Given the description of an element on the screen output the (x, y) to click on. 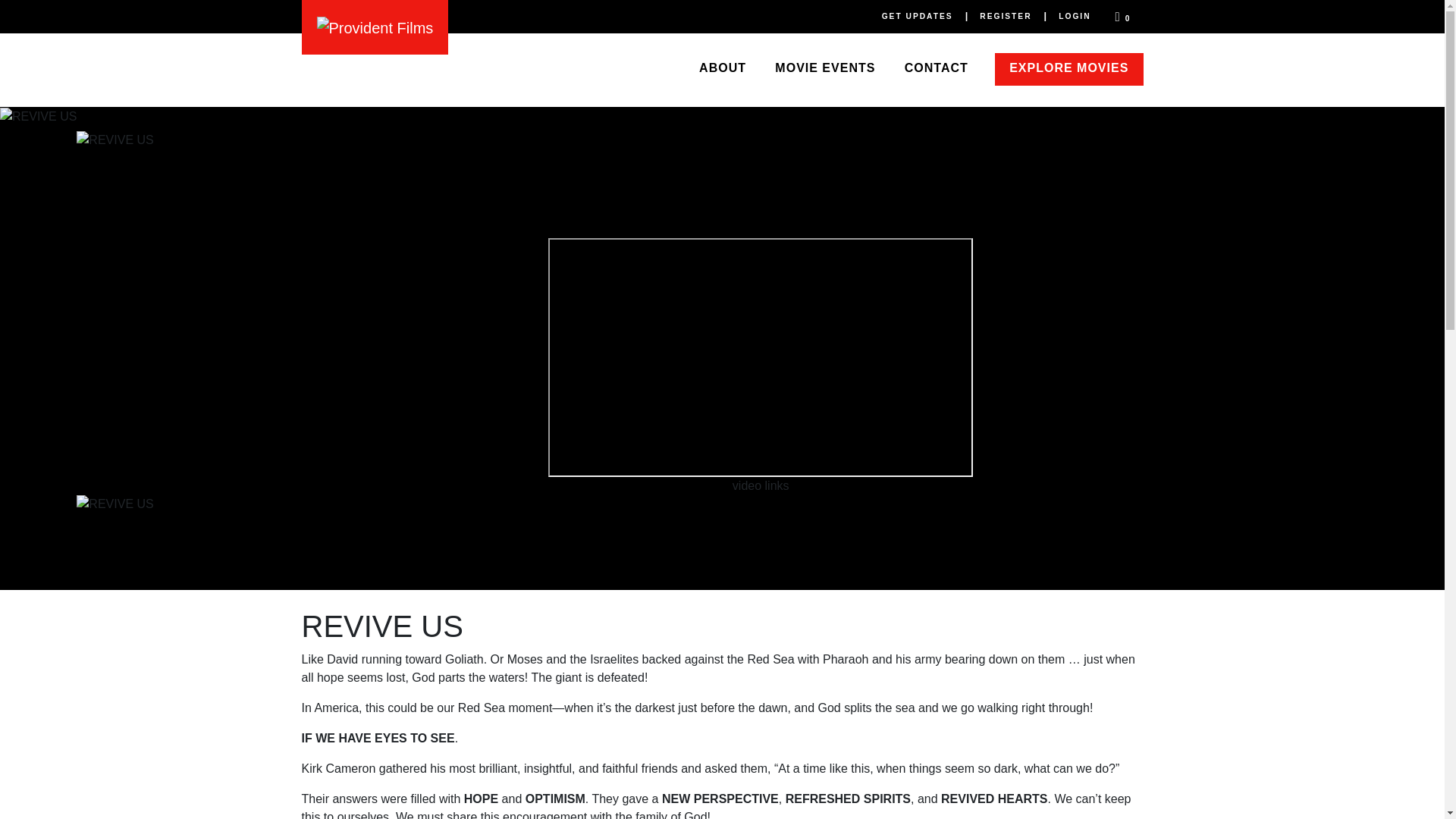
ABOUT (722, 69)
Movie Events (824, 69)
LOGIN (1074, 15)
REGISTER (1005, 15)
EXPLORE MOVIES (1068, 69)
MOVIE EVENTS (824, 69)
View your shopping cart (1122, 16)
Explore Movies (1068, 69)
CONTACT (935, 69)
Contact (935, 69)
